Given the description of an element on the screen output the (x, y) to click on. 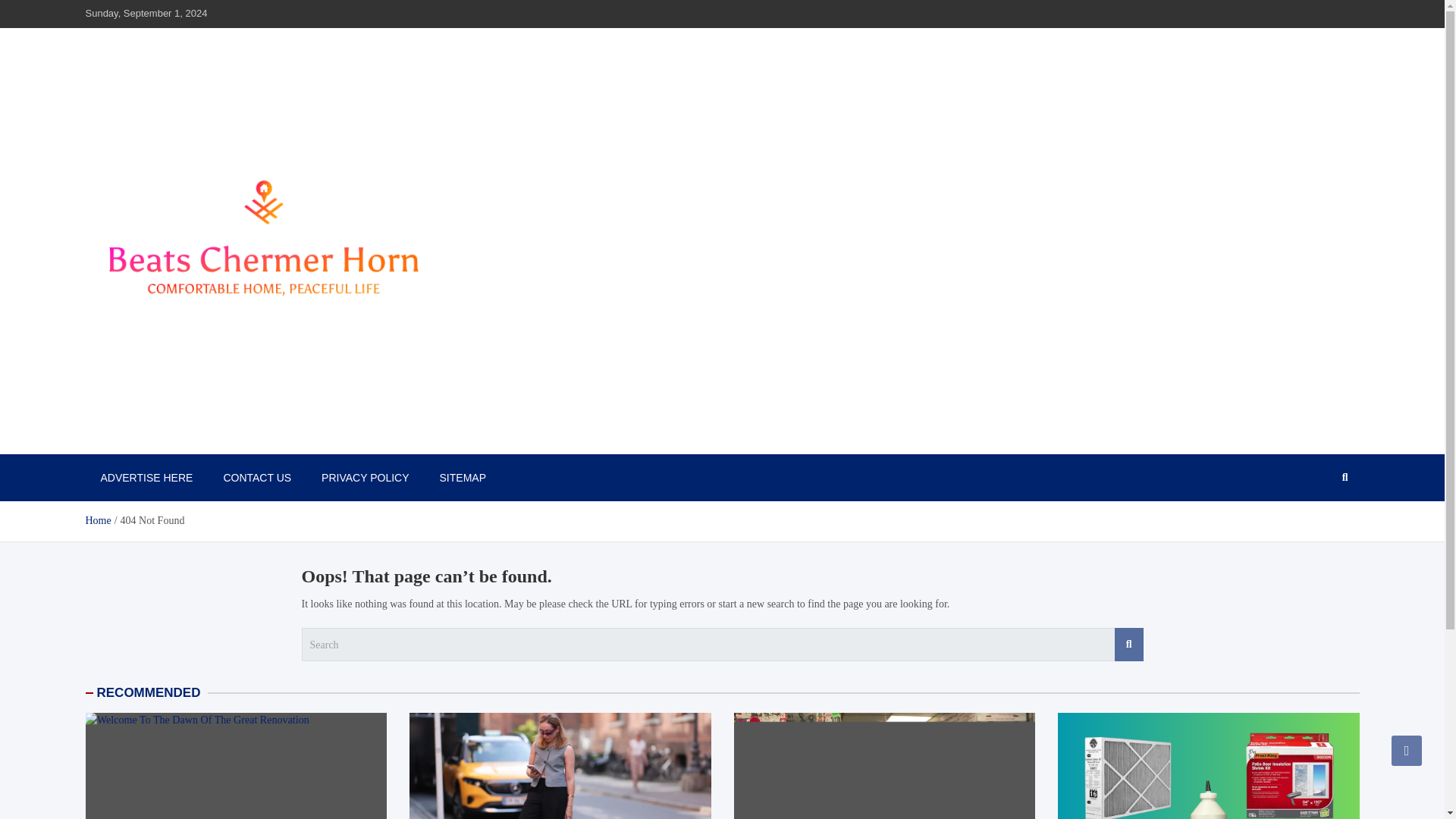
PRIVACY POLICY (364, 477)
RECOMMENDED (148, 692)
ADVERTISE HERE (146, 477)
Go to Top (1406, 750)
Beats Chermer Horn (193, 437)
CONTACT US (256, 477)
Welcome To The Dawn Of The Great Renovation (234, 765)
SITEMAP (462, 477)
Best Labor Day Clothing Sales 2024 (559, 765)
